Given the description of an element on the screen output the (x, y) to click on. 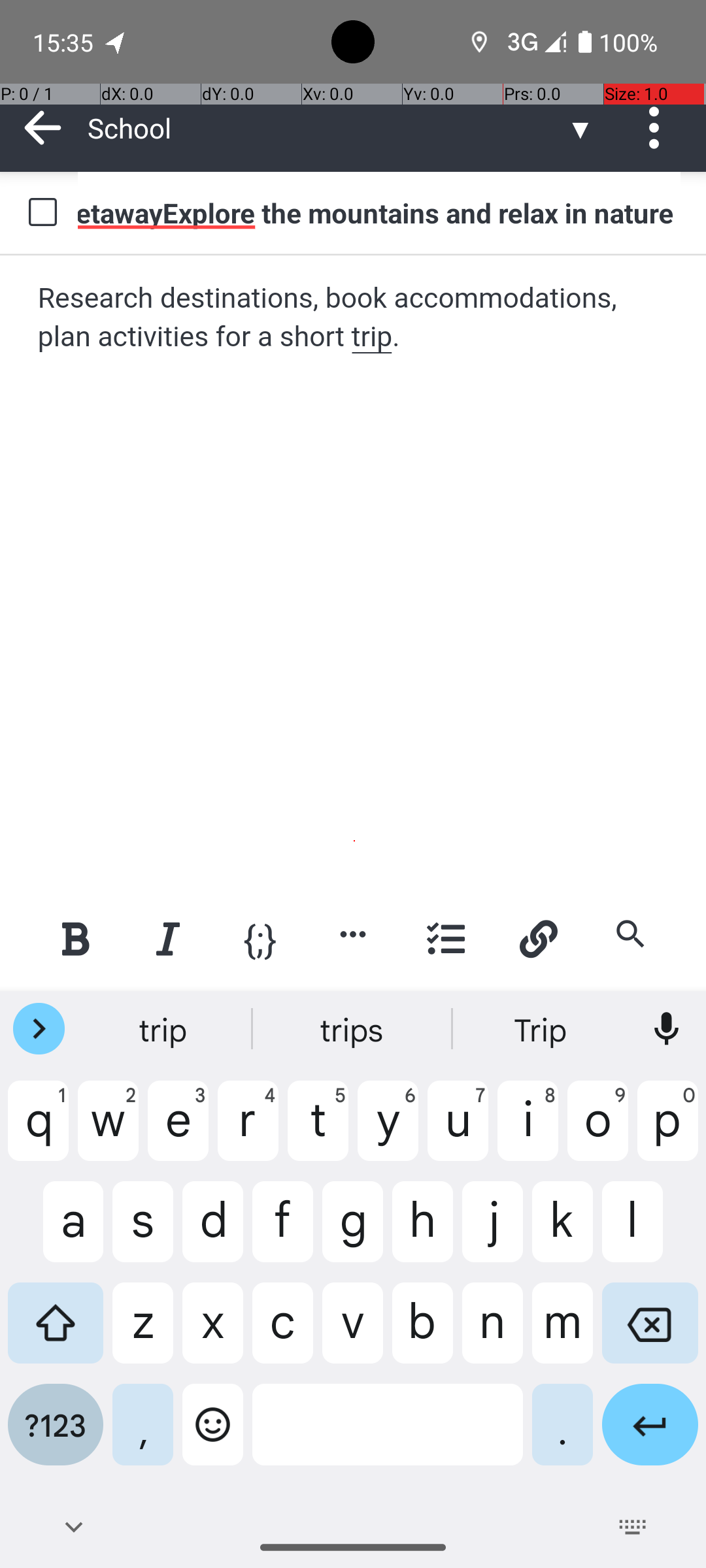
Plan Weekend GetawayExplore the mountains and relax in nature Element type: android.widget.EditText (378, 212)
School Element type: android.widget.TextView (326, 127)
Research destinations, book accommodations, plan activities for a short trip. Element type: android.widget.EditText (354, 317)
trip Element type: android.widget.FrameLayout (163, 1028)
trips Element type: android.widget.FrameLayout (352, 1028)
Trip Element type: android.widget.FrameLayout (541, 1028)
